Given the description of an element on the screen output the (x, y) to click on. 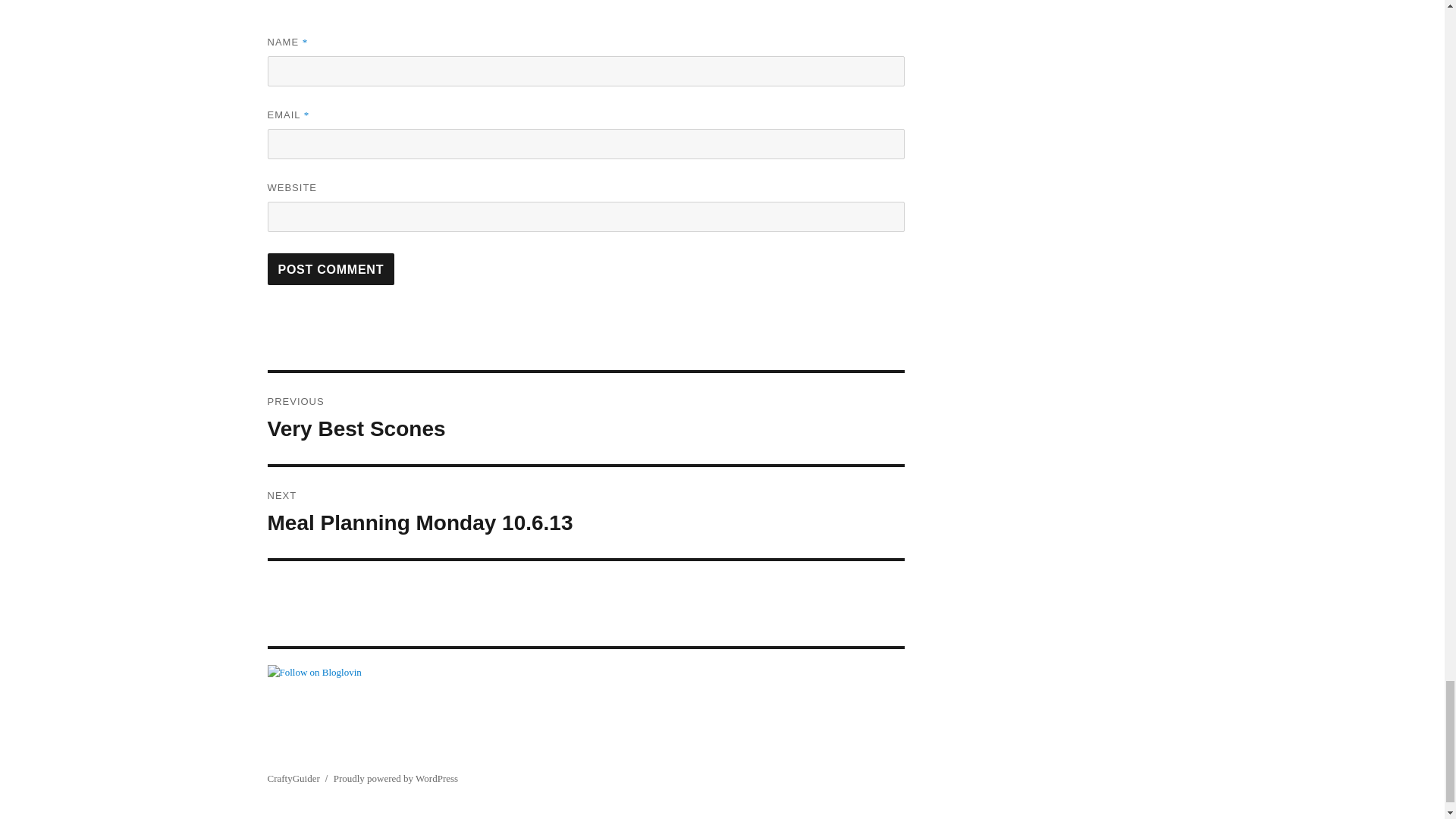
Post Comment (585, 418)
Post Comment (330, 269)
Follow CraftyGuider Blog on Bloglovin (330, 269)
